Given the description of an element on the screen output the (x, y) to click on. 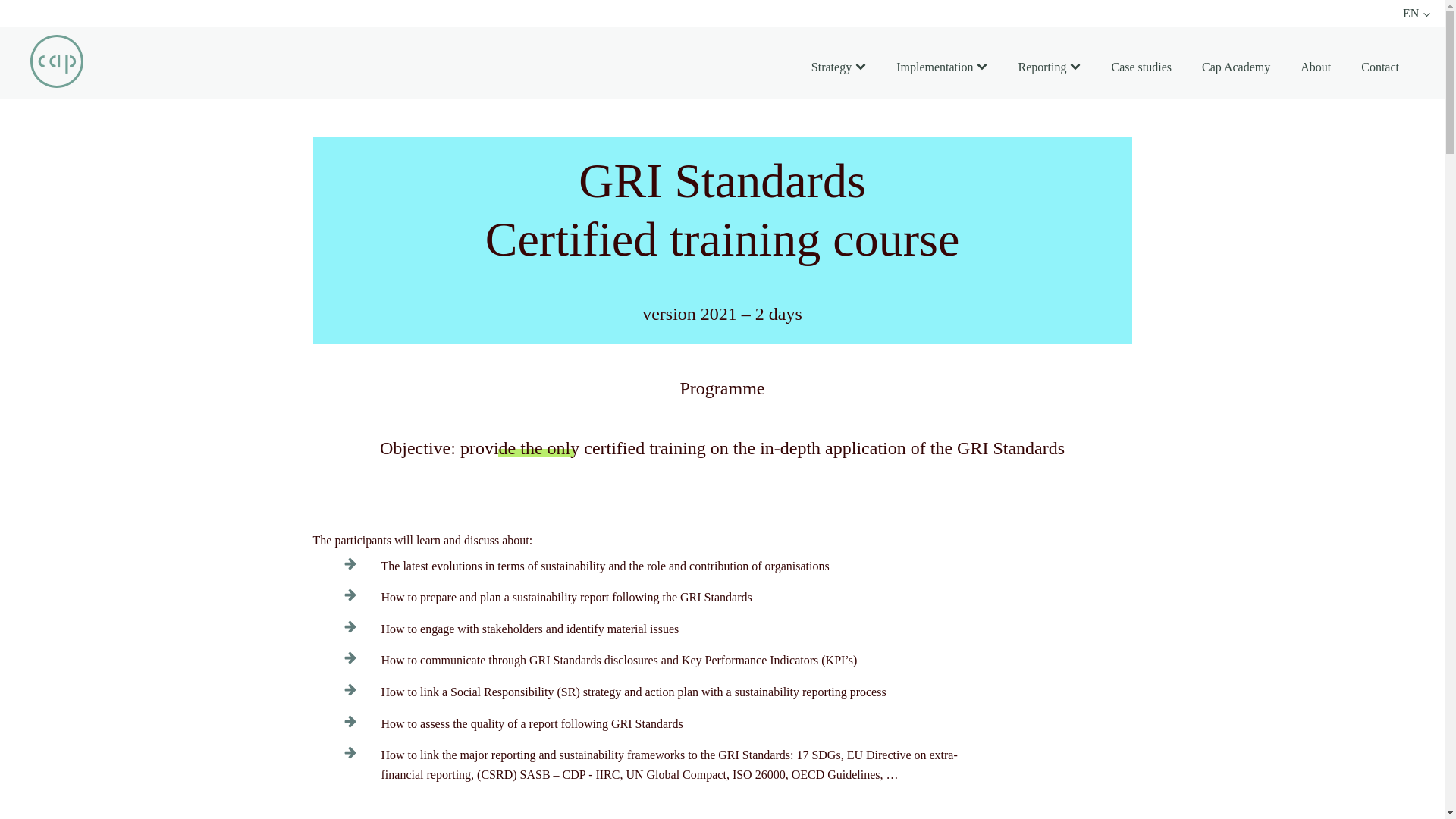
Reporting (1049, 67)
Contact (1379, 67)
Case studies (1141, 67)
Strategy (838, 67)
About (1315, 67)
Implementation (941, 67)
Cap Academy (1235, 67)
